Given the description of an element on the screen output the (x, y) to click on. 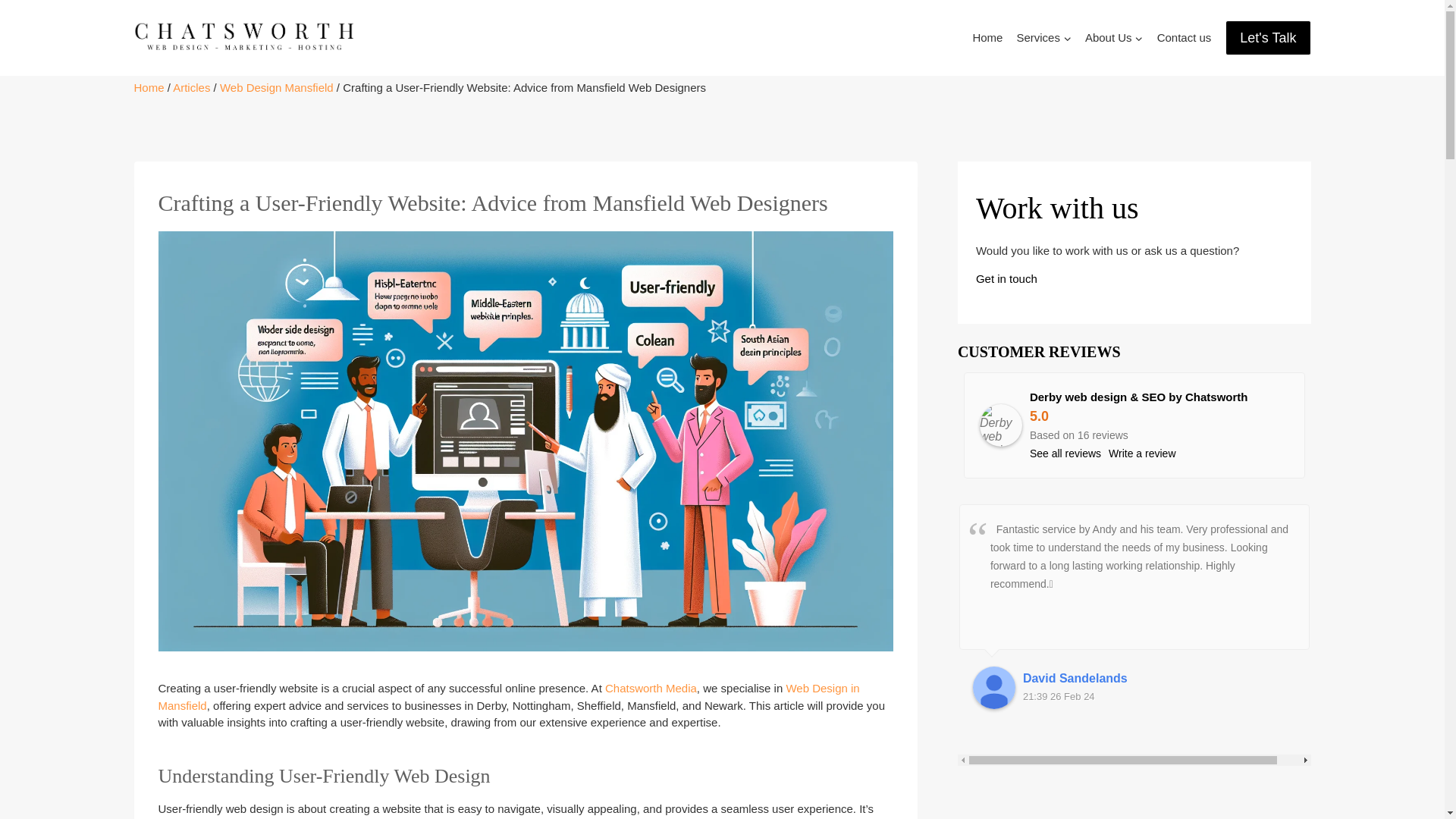
Home (987, 38)
Contact us (1184, 38)
Home (148, 87)
David Sandelands (993, 687)
Web Design in Mansfield (508, 696)
Chatsworth Media (651, 687)
David Sandelands (1159, 678)
Web Design Mansfield (276, 87)
Articles (191, 87)
Services (1043, 38)
